Given the description of an element on the screen output the (x, y) to click on. 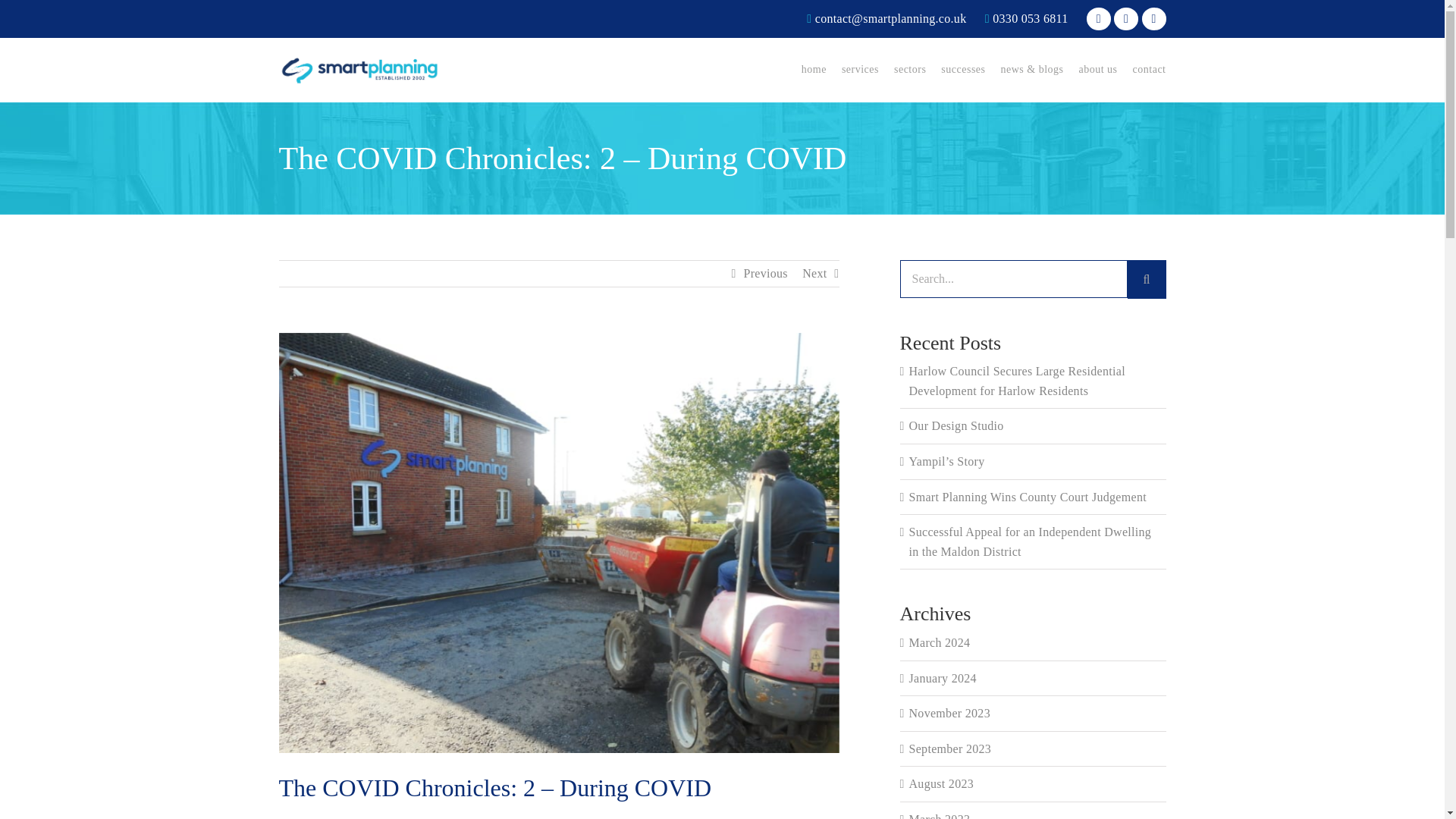
0330 053 6811 (1026, 18)
